Given the description of an element on the screen output the (x, y) to click on. 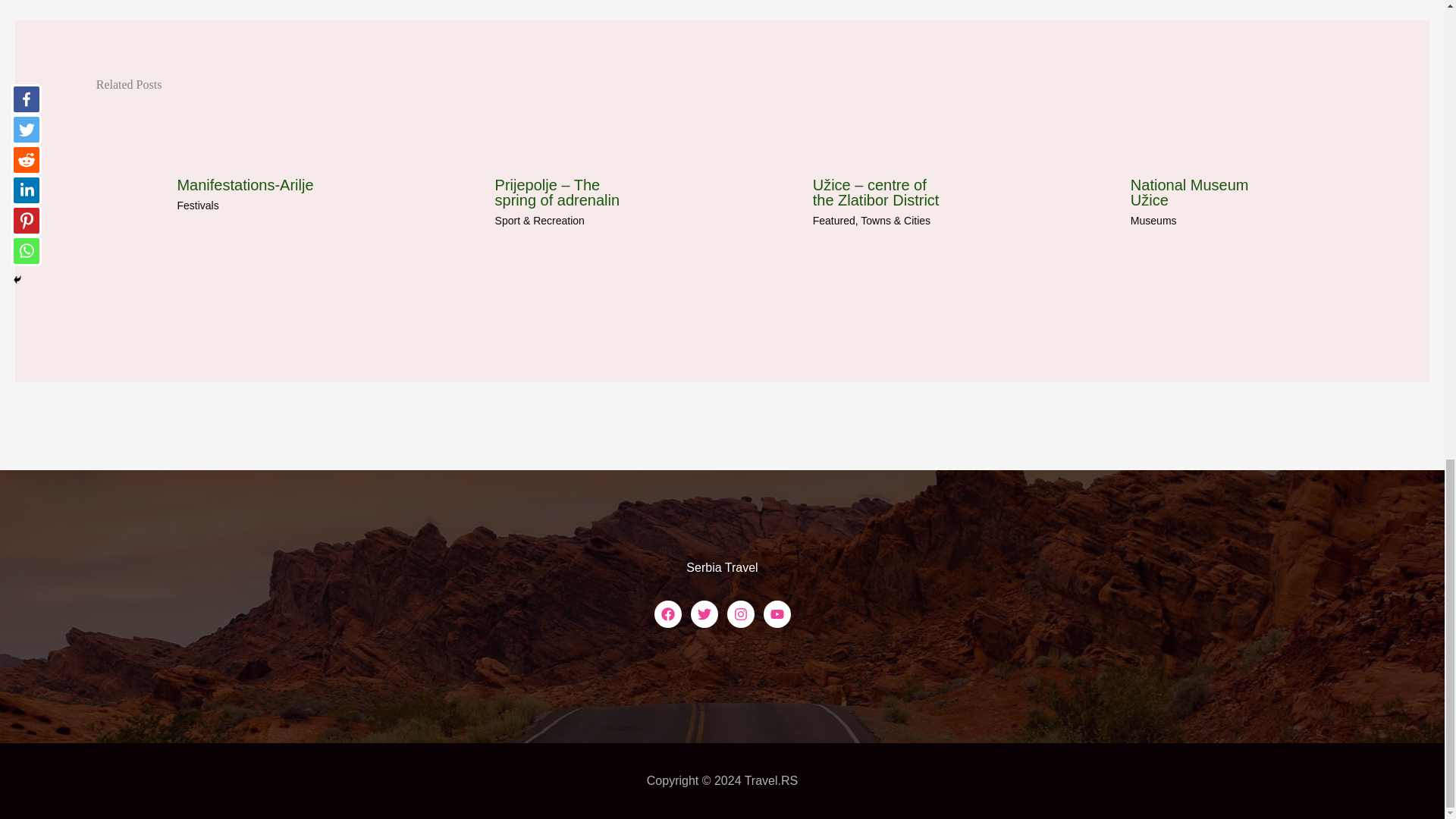
Museums (1153, 220)
Featured (834, 220)
Festivals (197, 205)
Manifestations-Arilje (244, 184)
